Given the description of an element on the screen output the (x, y) to click on. 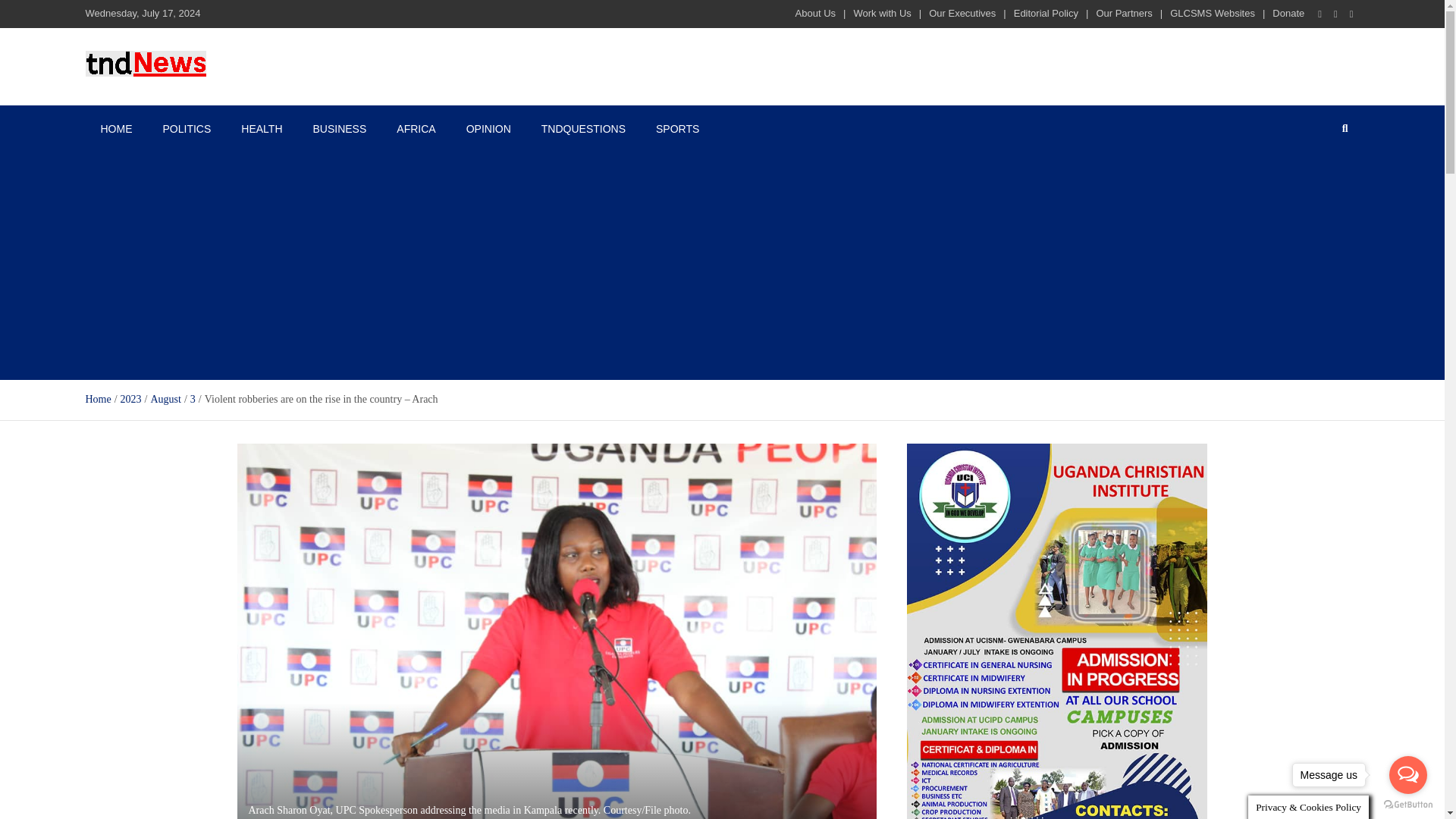
2023 (130, 398)
Home (97, 398)
Work with Us (882, 12)
August (164, 398)
BUSINESS (339, 128)
Youtube (1351, 13)
Our Partners (1123, 12)
Donate (1288, 12)
POLITICS (186, 128)
Twitter (1335, 13)
AFRICA (415, 128)
GLCSMS Websites (1212, 12)
HEALTH (261, 128)
TNDQUESTIONS (582, 128)
